Given the description of an element on the screen output the (x, y) to click on. 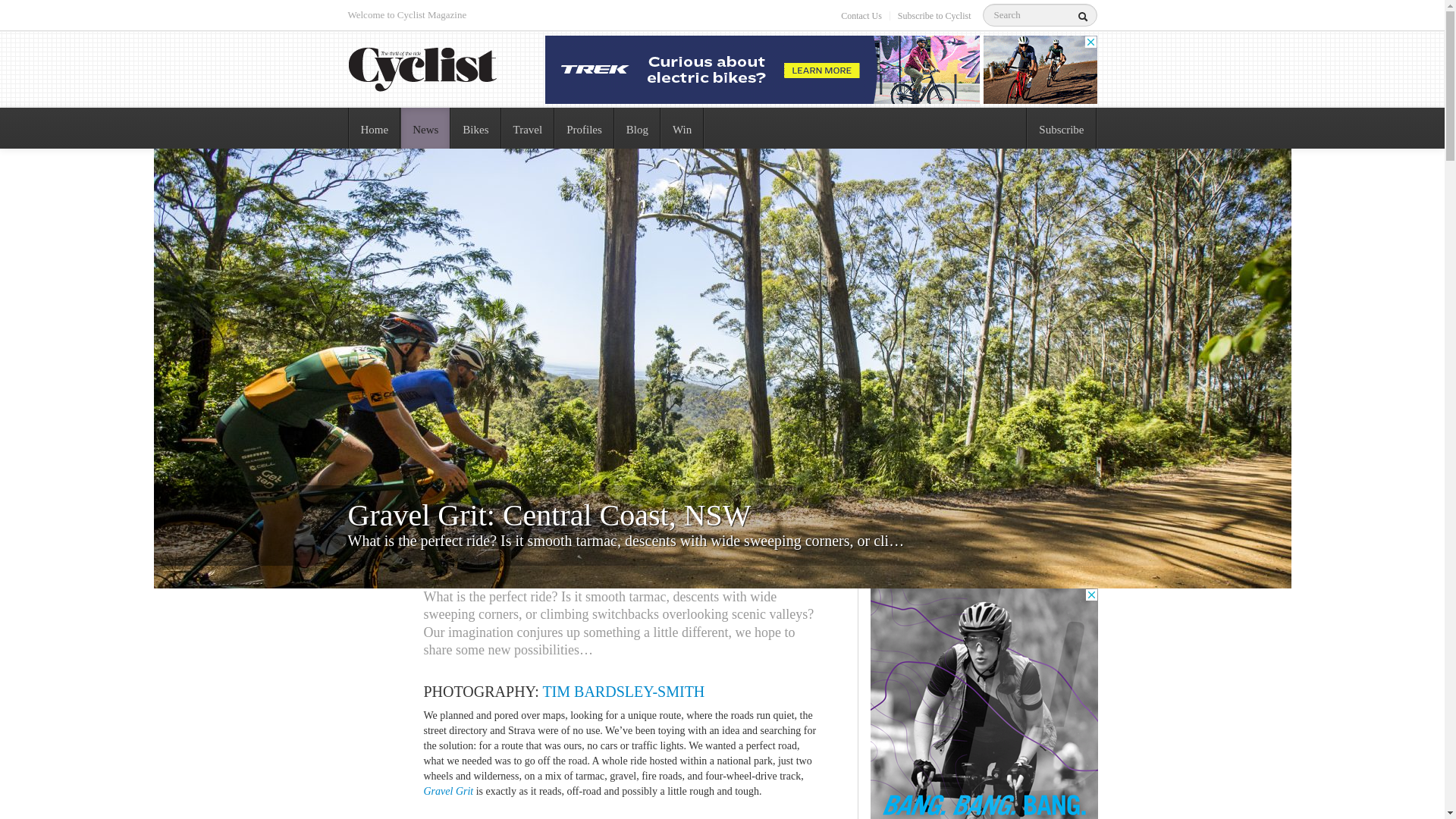
3rd party ad content Element type: hover (820, 69)
Gravel Grit Element type: text (448, 791)
Profiles Element type: text (584, 127)
TIM BARDSLEY-SMITH Element type: text (623, 691)
Contact Us Element type: text (860, 15)
Bikes Element type: text (475, 127)
Subscribe Element type: text (1061, 127)
Win Element type: text (681, 127)
Home Element type: text (373, 127)
Subscribe to Cyclist Element type: text (934, 15)
News Element type: text (425, 127)
Blog Element type: text (637, 127)
Travel Element type: text (528, 127)
